Given the description of an element on the screen output the (x, y) to click on. 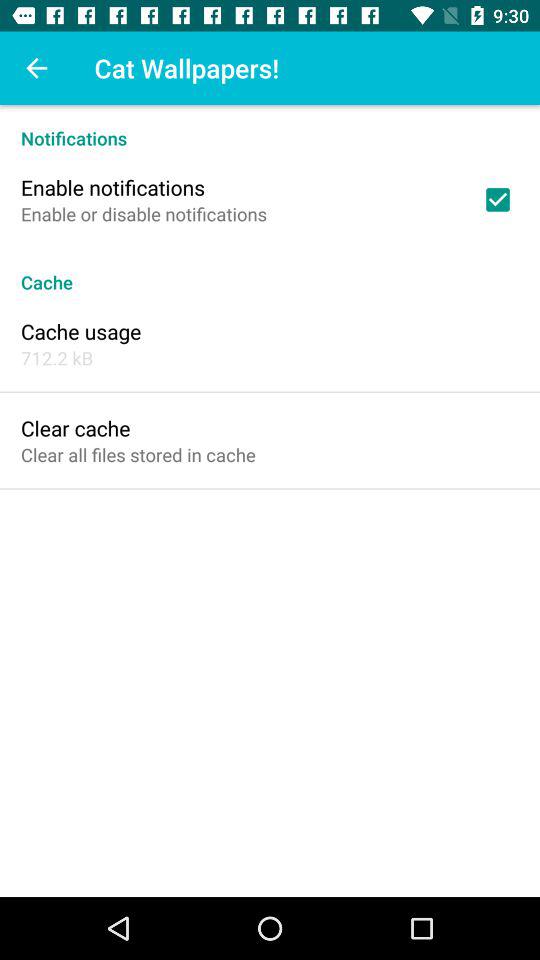
choose item next to the cat wallpapers! icon (36, 68)
